Given the description of an element on the screen output the (x, y) to click on. 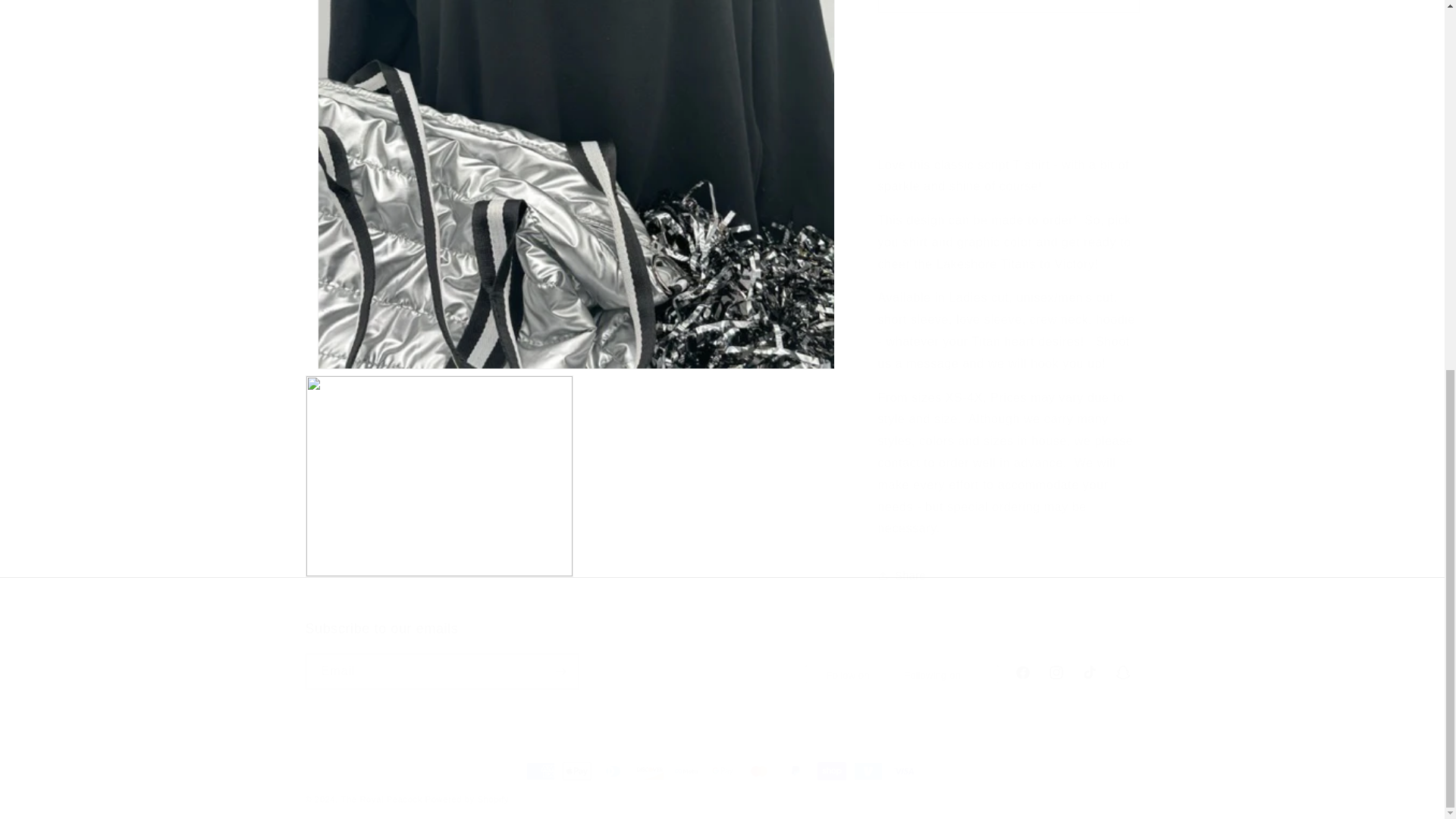
Open media 1 in modal (575, 86)
Open media 2 in modal (438, 279)
